Given the description of an element on the screen output the (x, y) to click on. 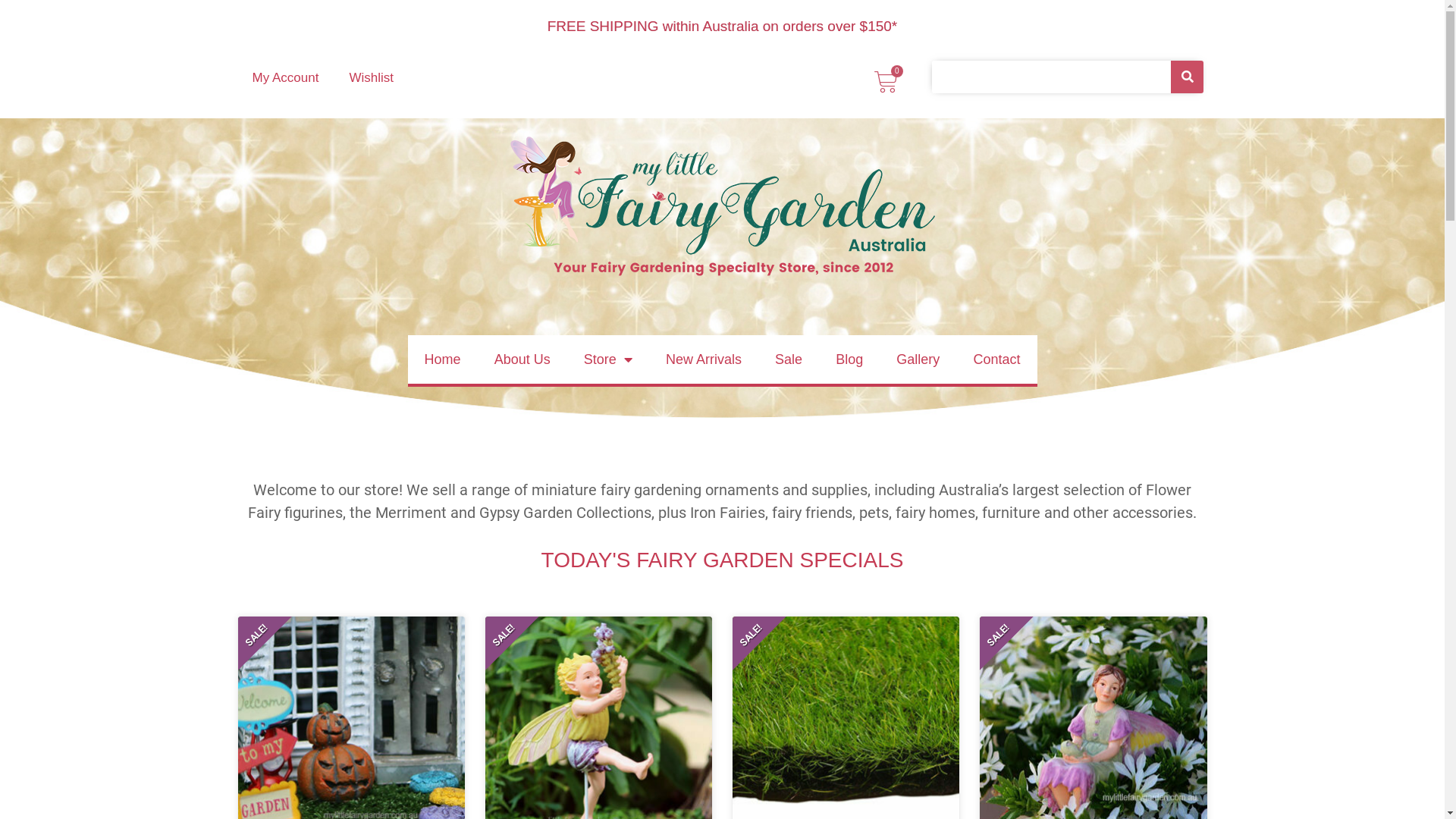
Wishlist Element type: text (370, 77)
Blog Element type: text (849, 359)
Home Element type: text (442, 359)
New Arrivals Element type: text (703, 359)
0 Element type: text (885, 81)
About Us Element type: text (522, 359)
Store Element type: text (608, 359)
Sale Element type: text (788, 359)
Contact Element type: text (996, 359)
Gallery Element type: text (917, 359)
My Account Element type: text (284, 77)
